Given the description of an element on the screen output the (x, y) to click on. 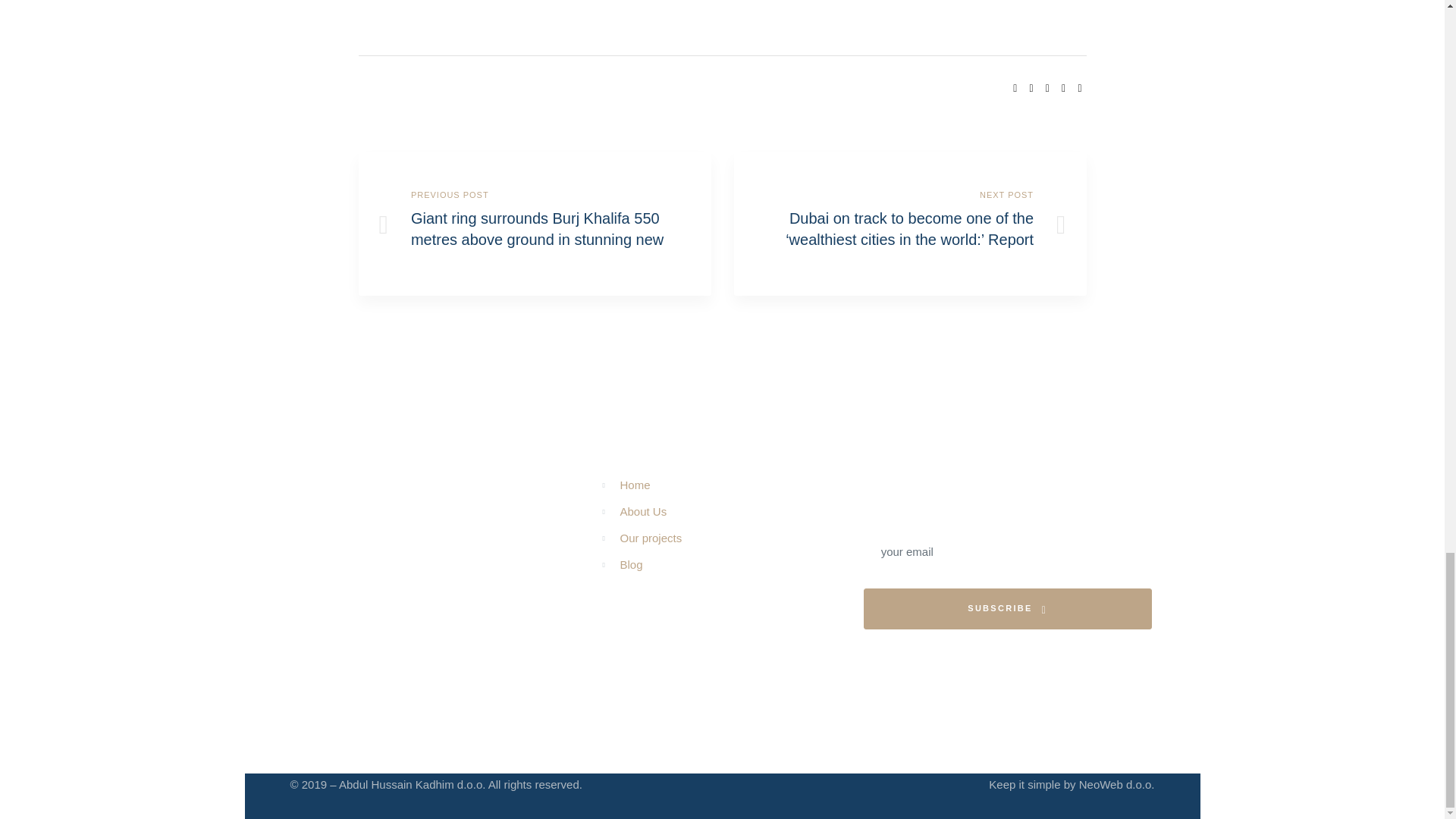
Our projects (729, 538)
SUBSCRIBE (1007, 608)
About Us (729, 511)
Blog (729, 564)
Home (729, 485)
